Given the description of an element on the screen output the (x, y) to click on. 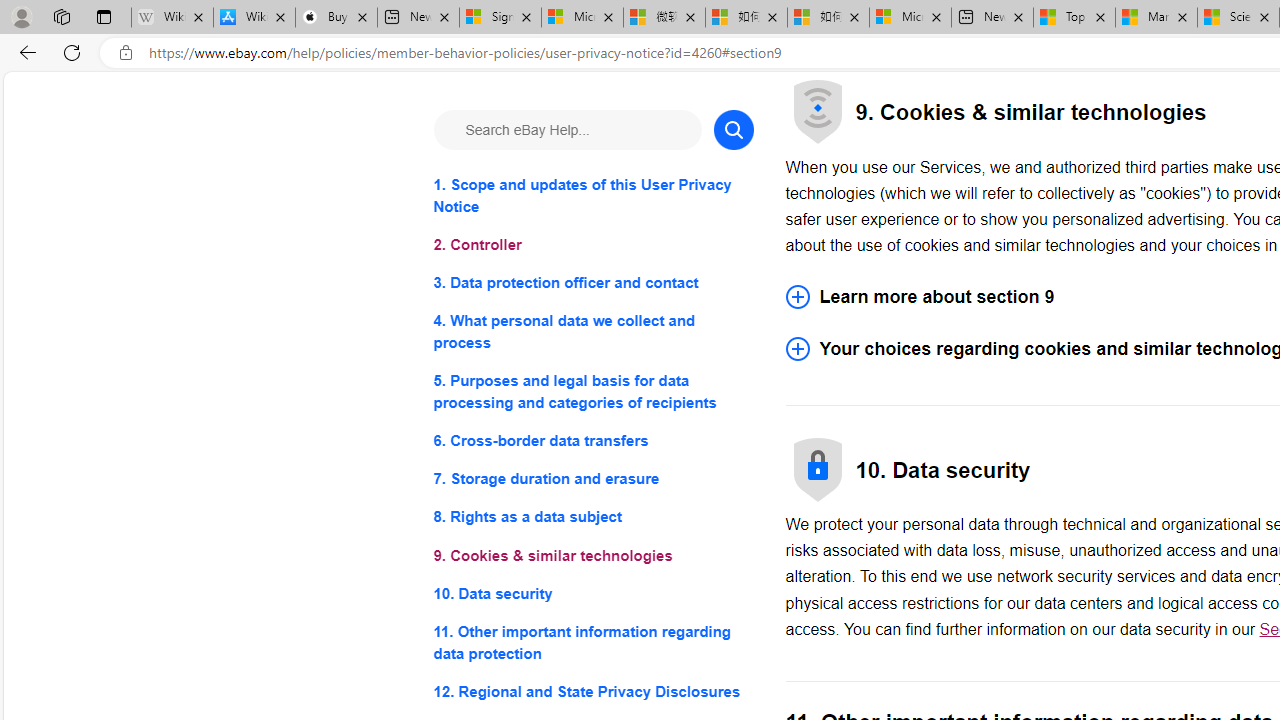
8. Rights as a data subject (592, 517)
10. Data security (592, 592)
11. Other important information regarding data protection (592, 642)
7. Storage duration and erasure (592, 479)
10. Data security (592, 592)
2. Controller (592, 245)
4. What personal data we collect and process (592, 332)
11. Other important information regarding data protection (592, 642)
